Given the description of an element on the screen output the (x, y) to click on. 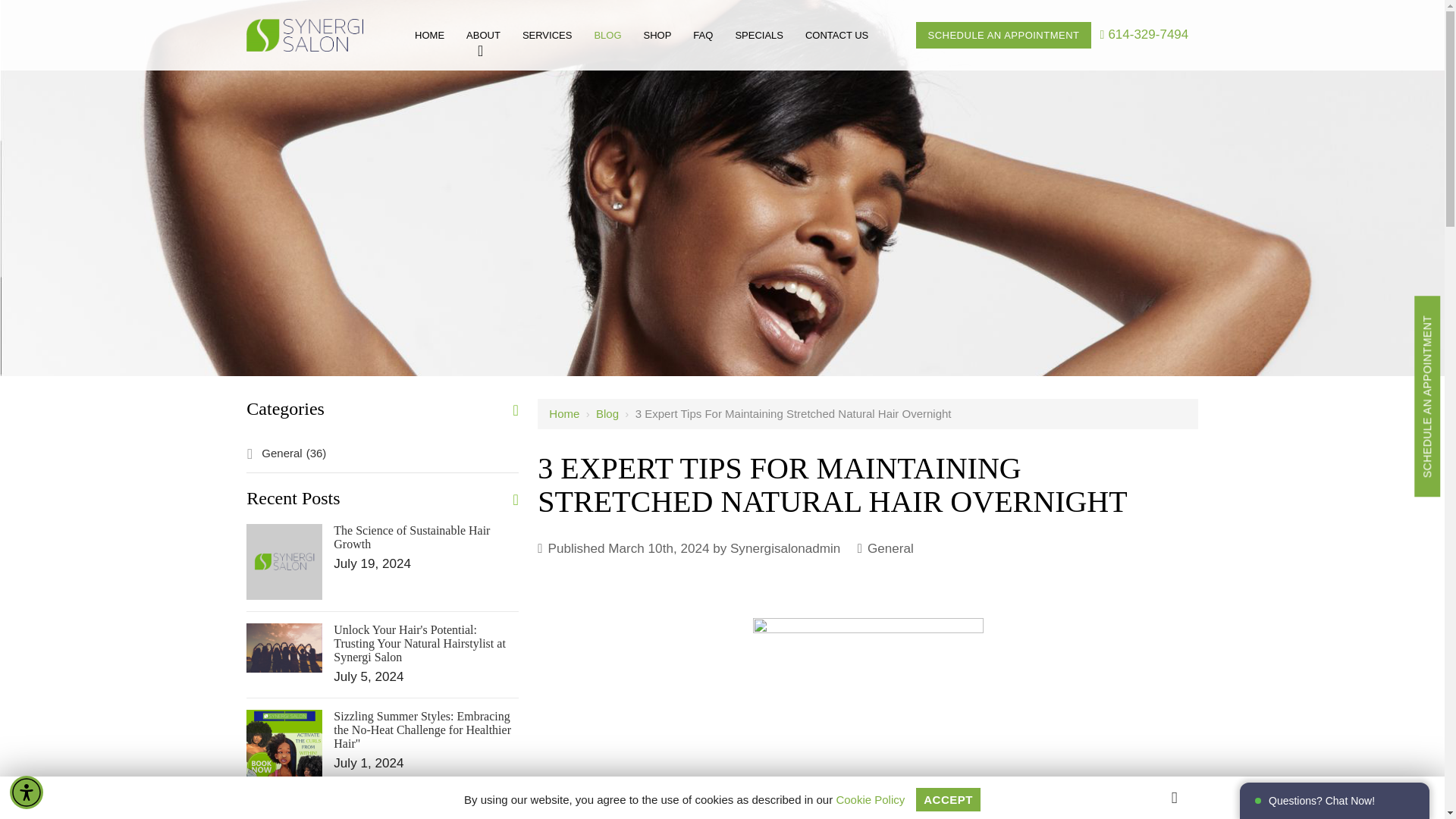
HOME (429, 35)
BLOG (607, 35)
CONTACT US (836, 35)
Blog (606, 413)
General (890, 548)
Synergisalonadmin (785, 548)
Home (563, 413)
SPECIALS (758, 35)
Accessibility Menu (26, 792)
FAQ (703, 35)
614-329-7494 (1144, 34)
ABOUT (483, 35)
SHOP (657, 35)
SCHEDULE AN APPOINTMENT (1002, 35)
SERVICES (546, 35)
